Given the description of an element on the screen output the (x, y) to click on. 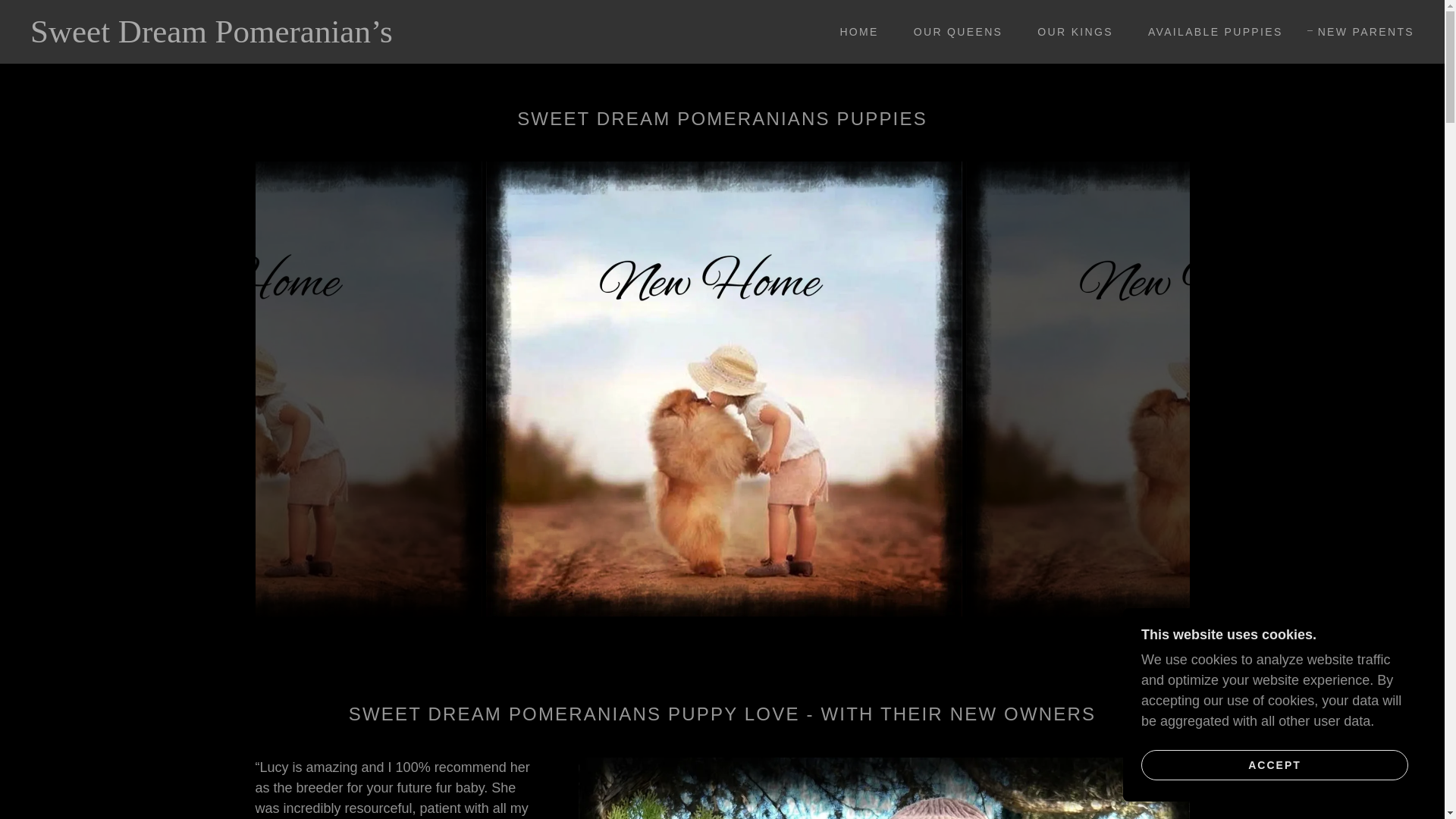
NEW PARENTS (1360, 31)
AVAILABLE PUPPIES (1209, 31)
ACCEPT (1274, 764)
HOME (853, 31)
OUR KINGS (1070, 31)
OUR QUEENS (952, 31)
